Given the description of an element on the screen output the (x, y) to click on. 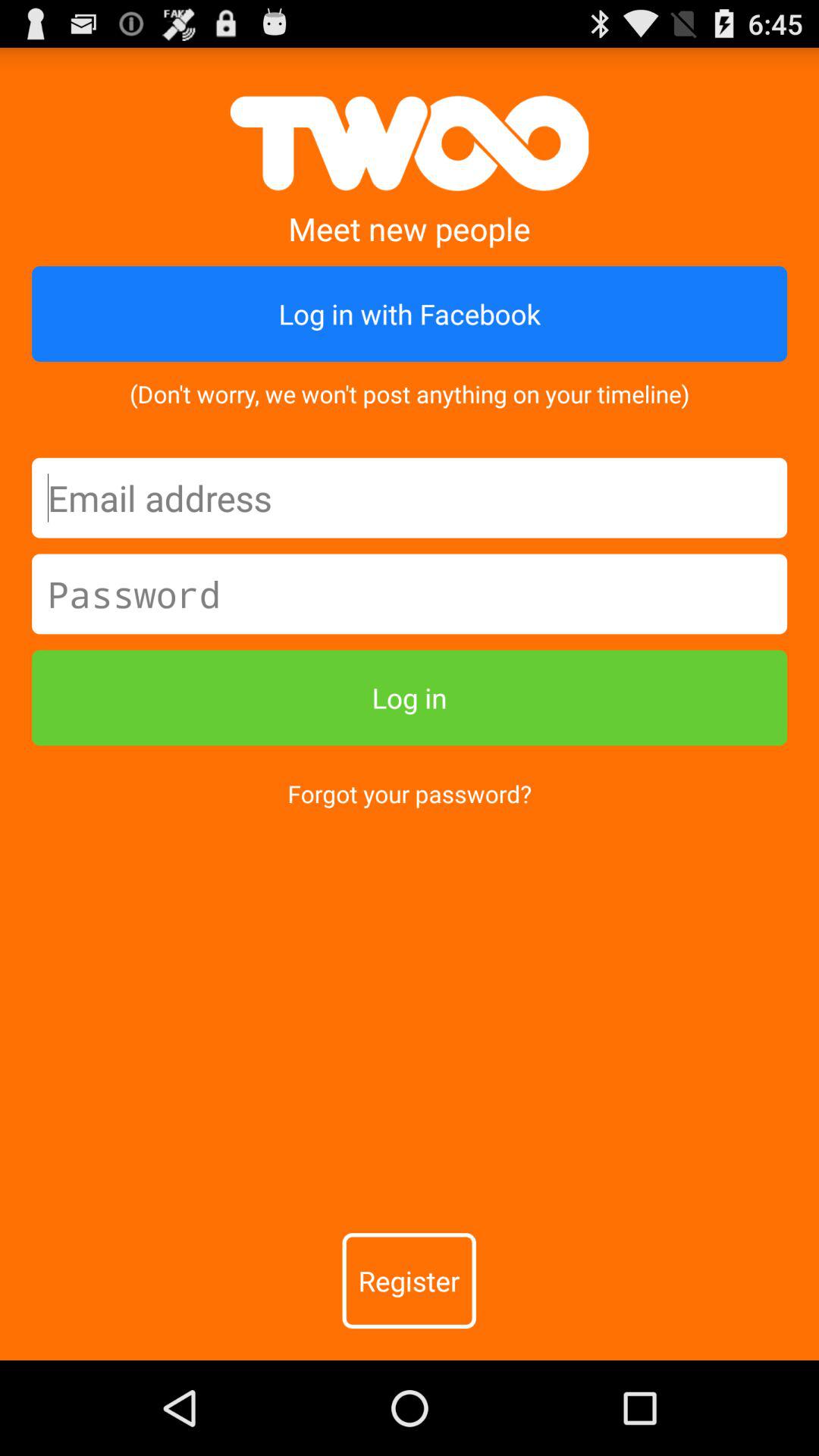
tap icon at the bottom (409, 1280)
